Given the description of an element on the screen output the (x, y) to click on. 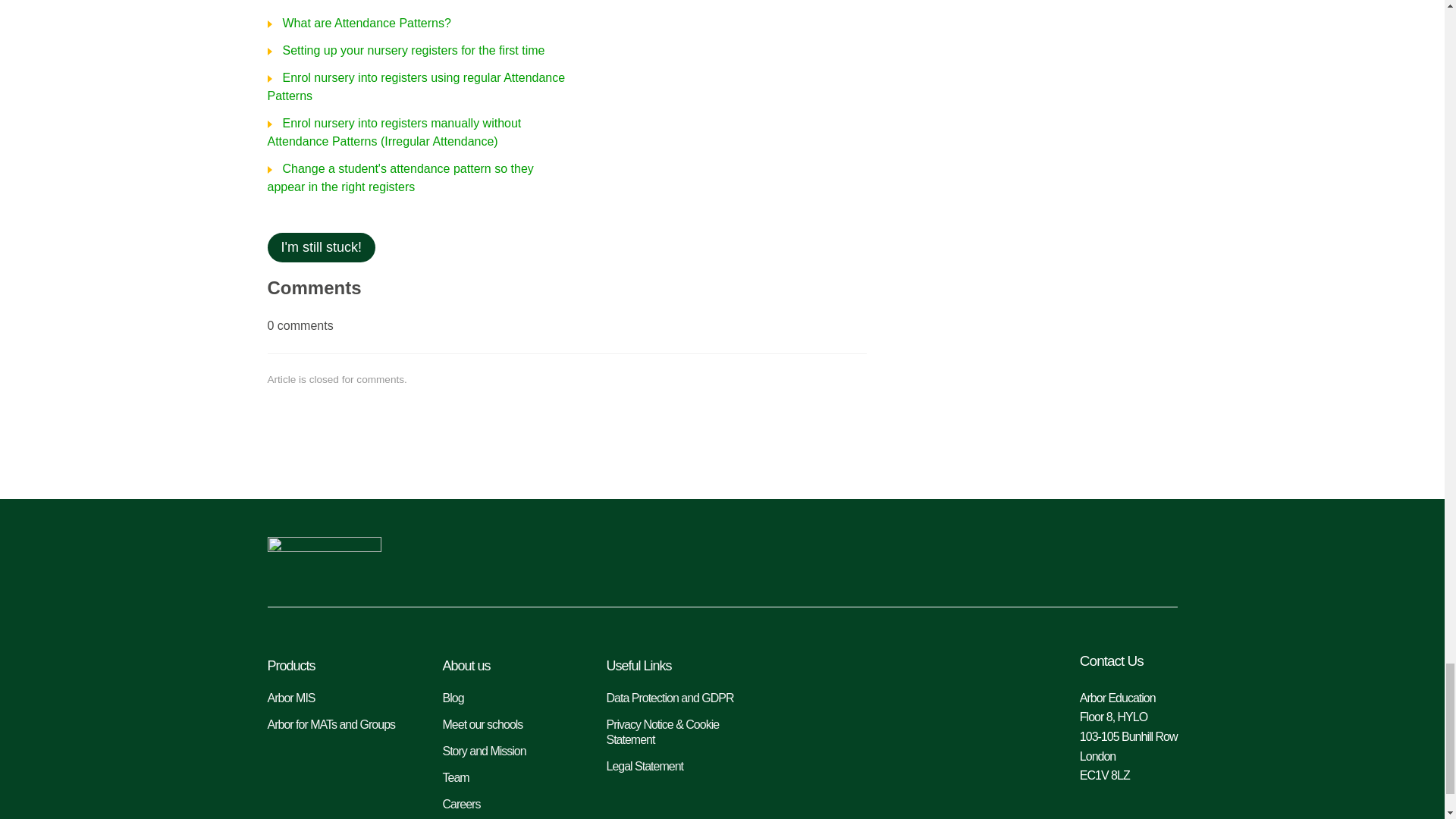
Arbor MIS (339, 698)
Setting up your nursery registers for the first time (405, 50)
What are Attendance Patterns? (357, 23)
Twitter (1109, 557)
Facebook (1159, 557)
Products (339, 665)
Arbor for MATs and Groups (339, 724)
I'm still stuck! (320, 247)
Linkedin (1061, 557)
